Given the description of an element on the screen output the (x, y) to click on. 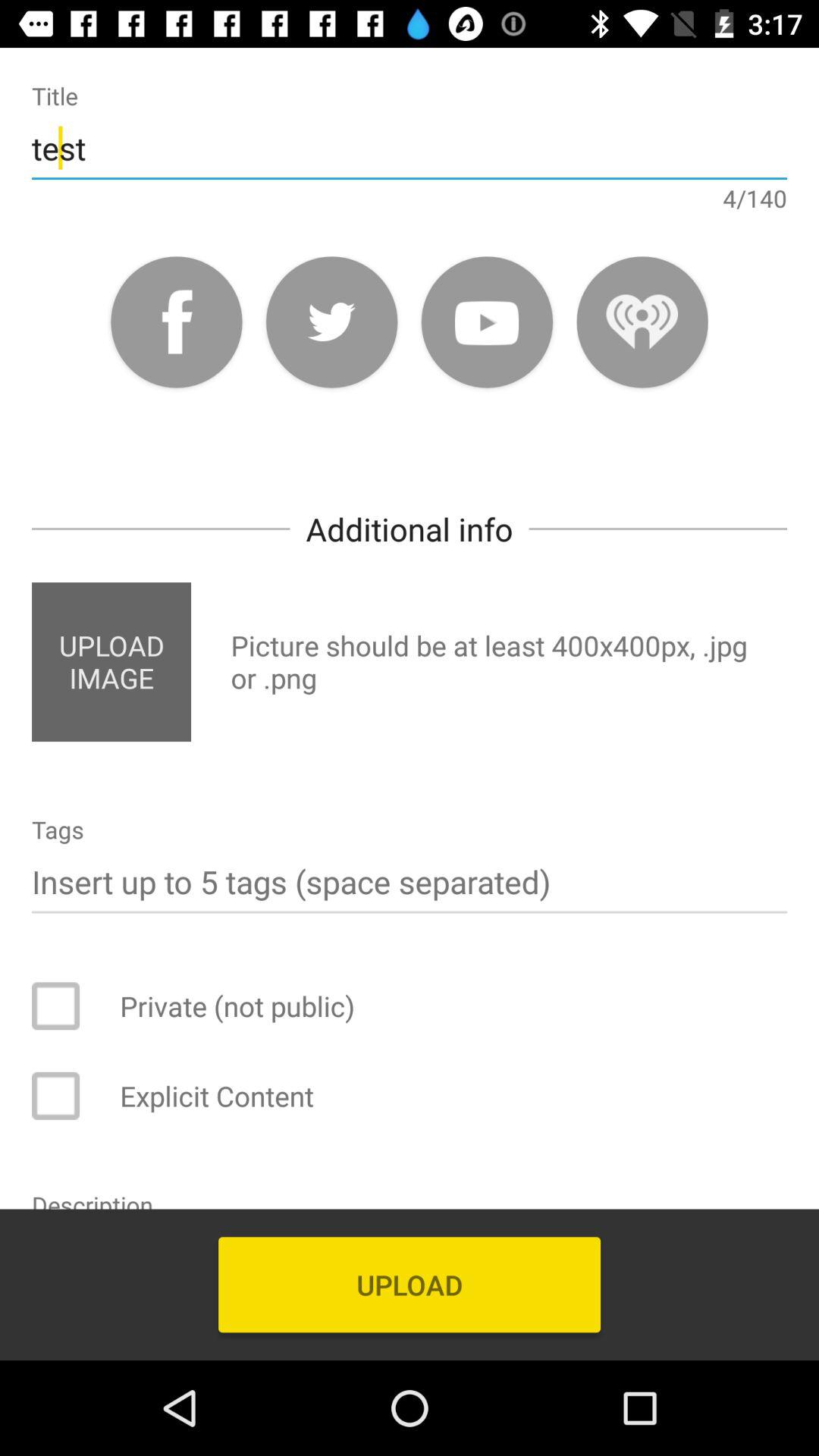
i heart radio functions (642, 321)
